Given the description of an element on the screen output the (x, y) to click on. 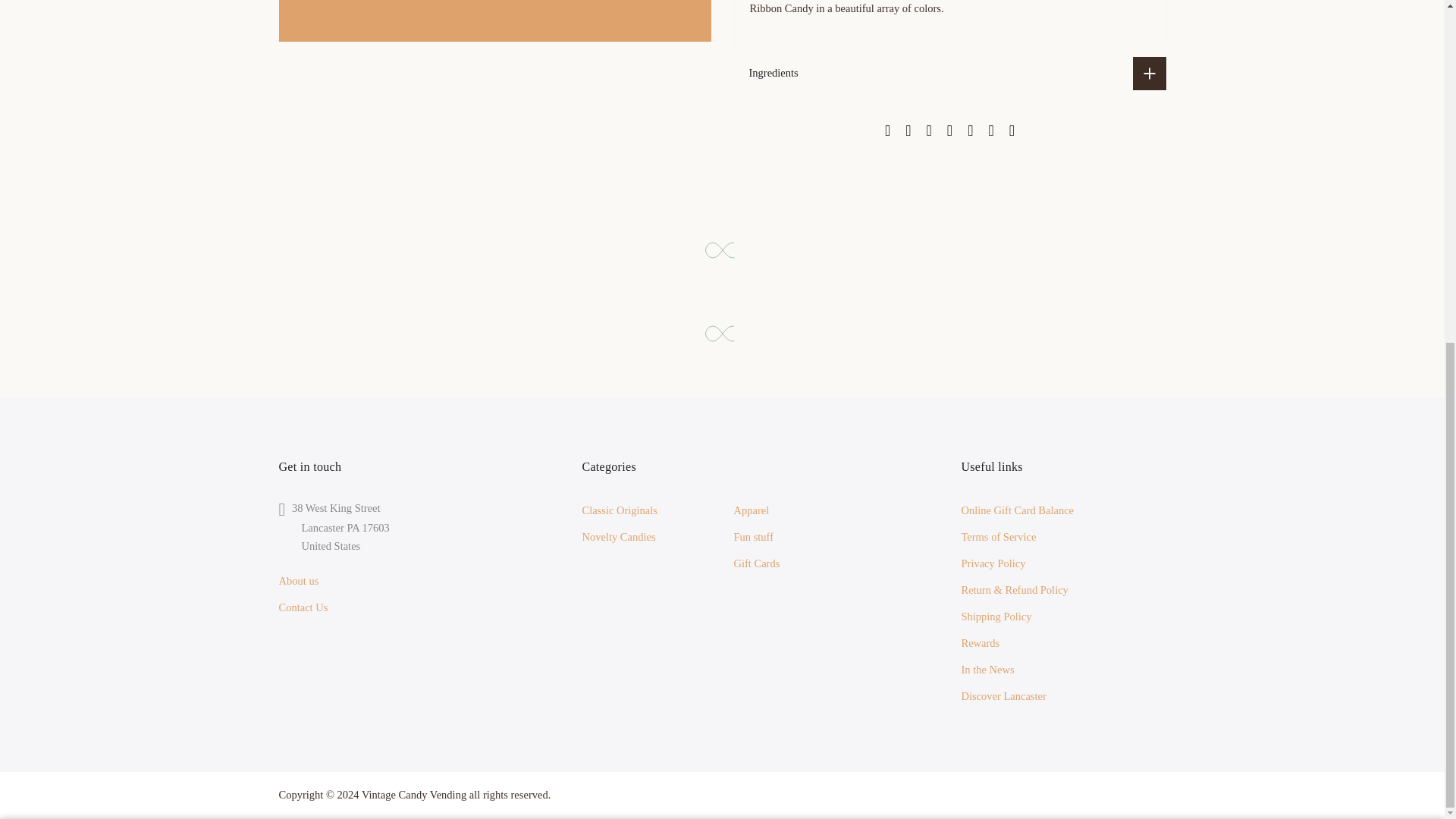
Classic Originals (618, 510)
Novelty Candies (617, 536)
1 (1001, 270)
Ingredients (949, 73)
Contact Us (304, 607)
Fun stuff (753, 536)
Apparel (750, 510)
About us (298, 580)
